Given the description of an element on the screen output the (x, y) to click on. 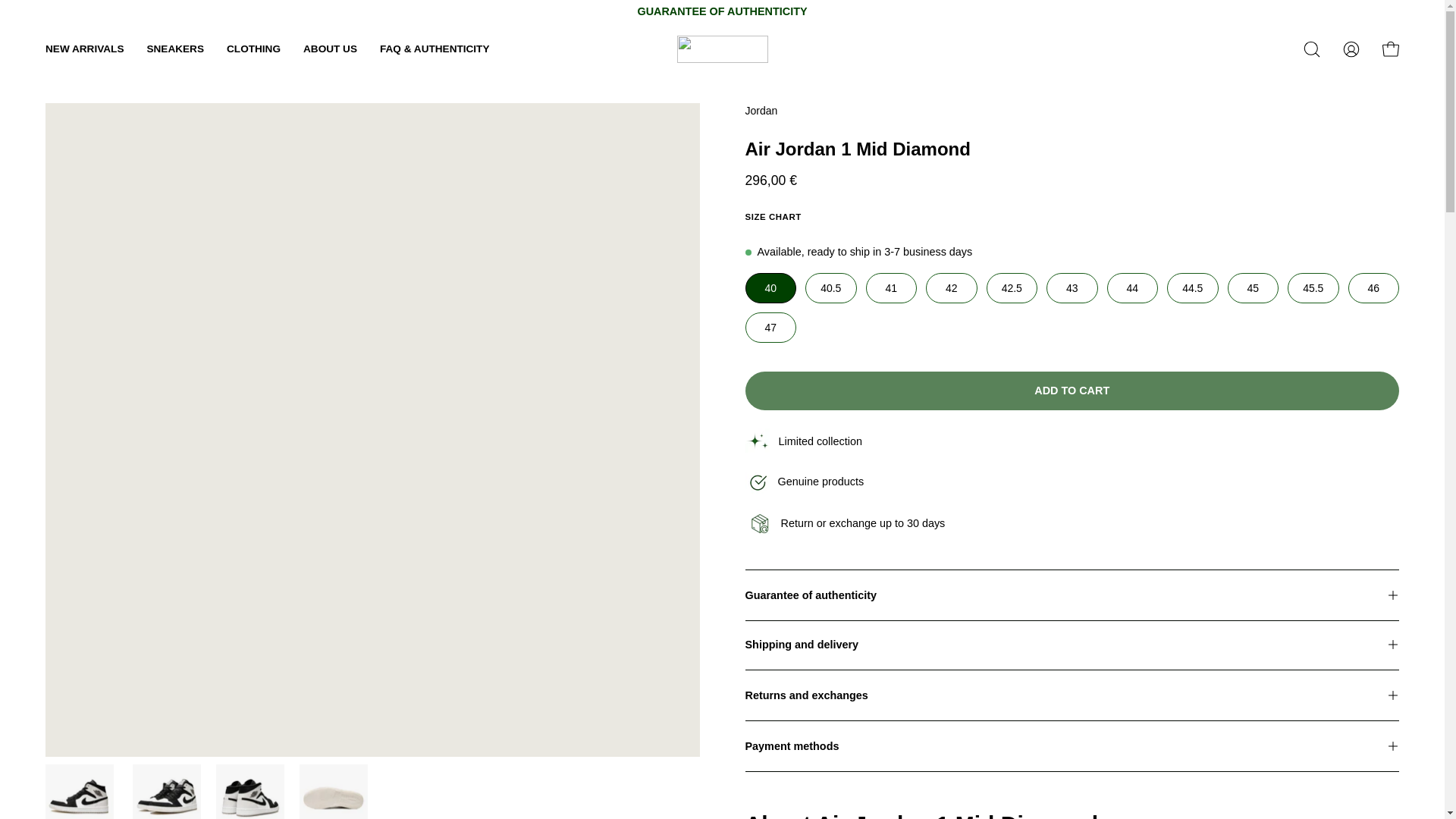
Open search bar (1311, 49)
